Given the description of an element on the screen output the (x, y) to click on. 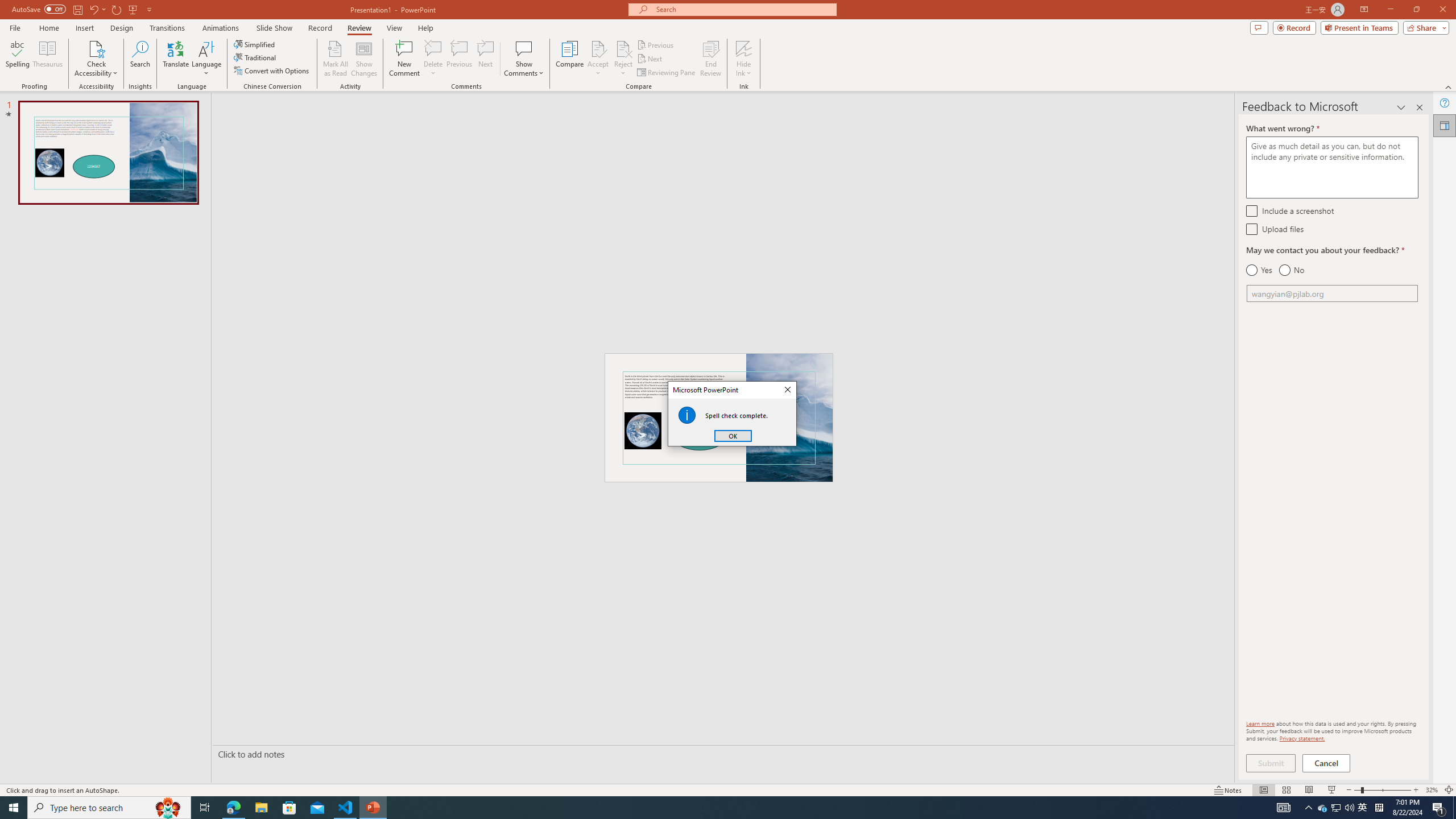
Previous (655, 44)
Task View (204, 807)
Accept (598, 58)
Upload files (1251, 228)
Next (649, 58)
Zoom 32% (1431, 790)
Simplified (254, 44)
Privacy statement. (1301, 738)
PowerPoint - 1 running window (373, 807)
